Given the description of an element on the screen output the (x, y) to click on. 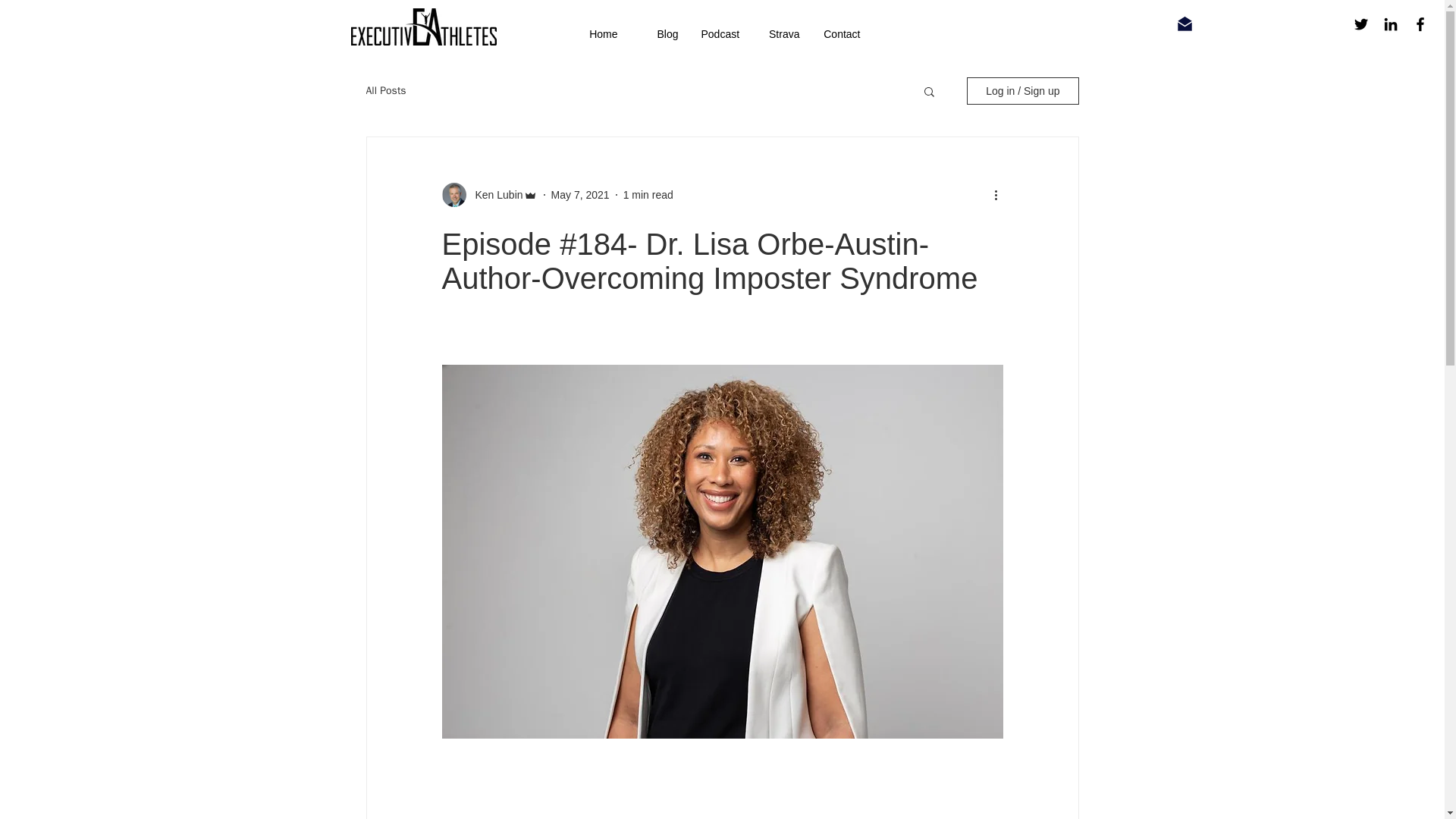
Home (598, 34)
Strava (780, 34)
1 min read (647, 193)
All Posts (385, 90)
Contact (841, 34)
Podcast (720, 34)
Blog (659, 34)
May 7, 2021 (580, 193)
remote content (604, 794)
Ken Lubin (493, 194)
